Given the description of an element on the screen output the (x, y) to click on. 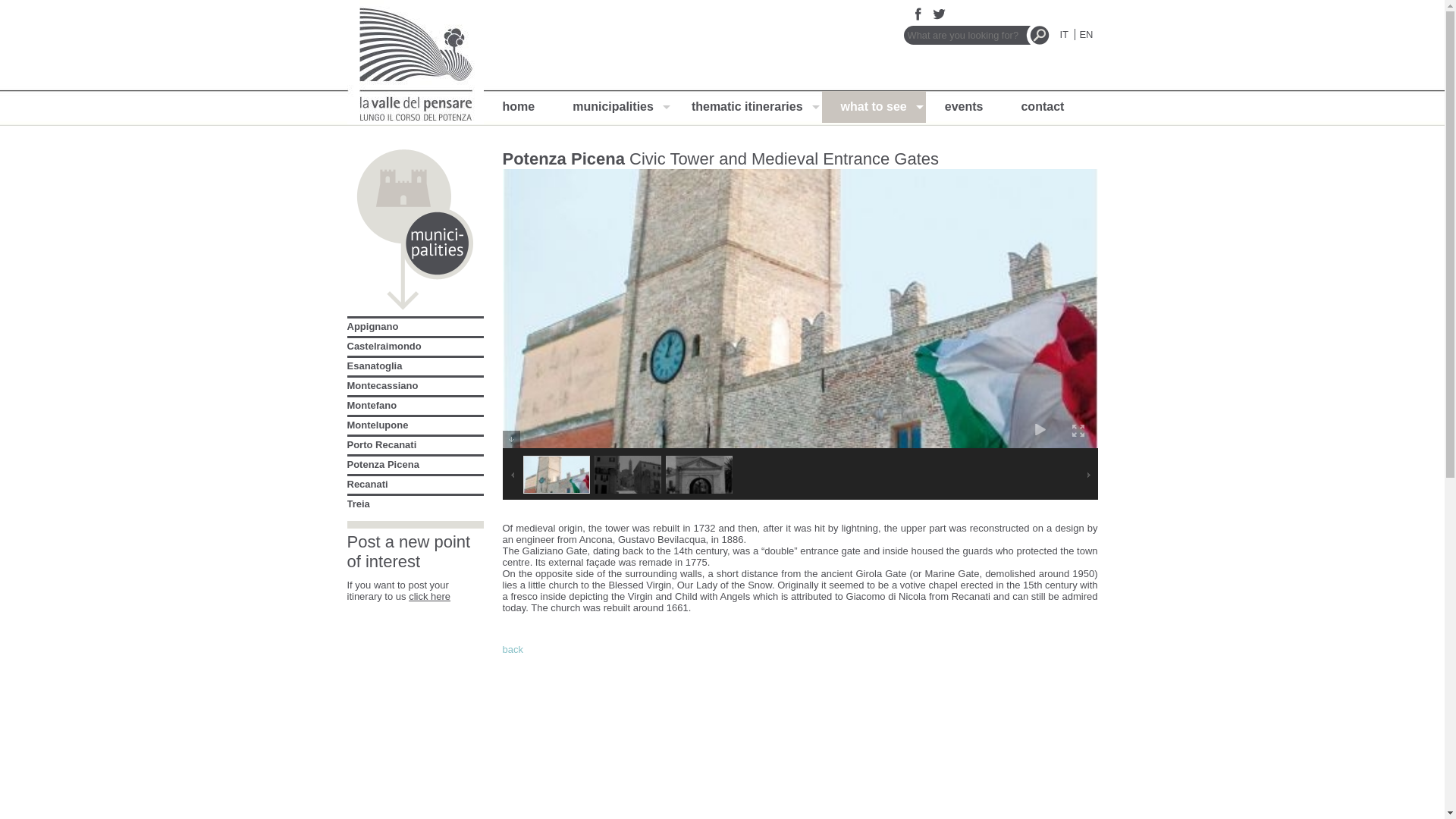
Montecassiano (383, 385)
Valle del pensare - Municipalities (612, 106)
Castelraimondo (384, 346)
Valle del Pensare - Contact (1042, 106)
events (964, 106)
Valle del pensare - Thematic itineraries (747, 106)
Appignano (372, 326)
what to see (874, 106)
Valle del Pensare - Home (518, 106)
home (518, 106)
Valle del Pensare - Events (964, 106)
municipalities (612, 106)
thematic itineraries (747, 106)
Site image (415, 62)
EN (1085, 34)
